Given the description of an element on the screen output the (x, y) to click on. 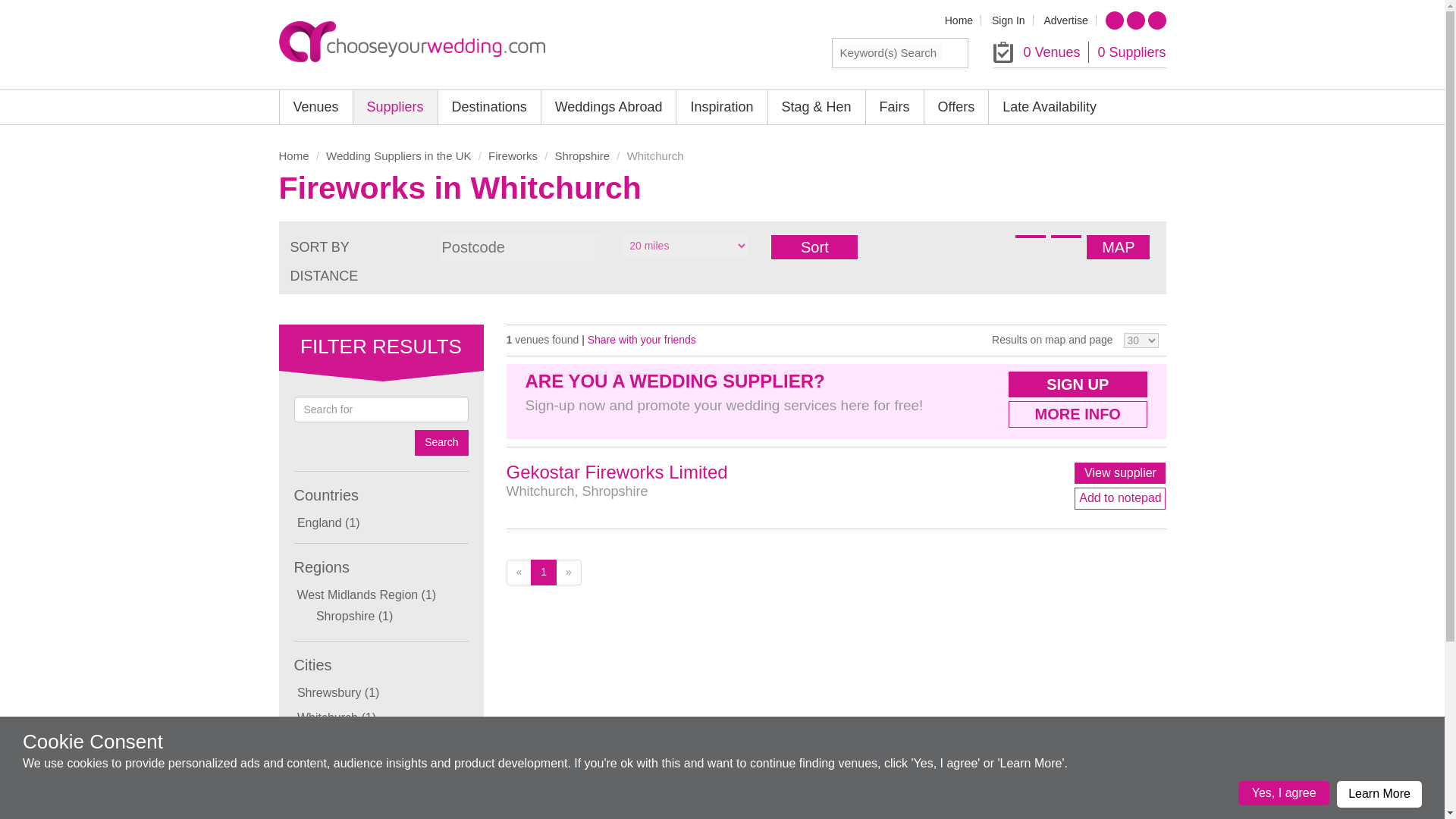
Advertise (1065, 20)
Weddings Abroad (609, 107)
Venues (315, 107)
Destinations (489, 107)
Suppliers (395, 107)
0 Venues (1051, 52)
Fairs (894, 107)
Inspiration (722, 107)
Home (958, 20)
Learn More (1379, 794)
0 Suppliers (1131, 52)
Yes, I agree (1284, 793)
Sign In (1008, 20)
